Given the description of an element on the screen output the (x, y) to click on. 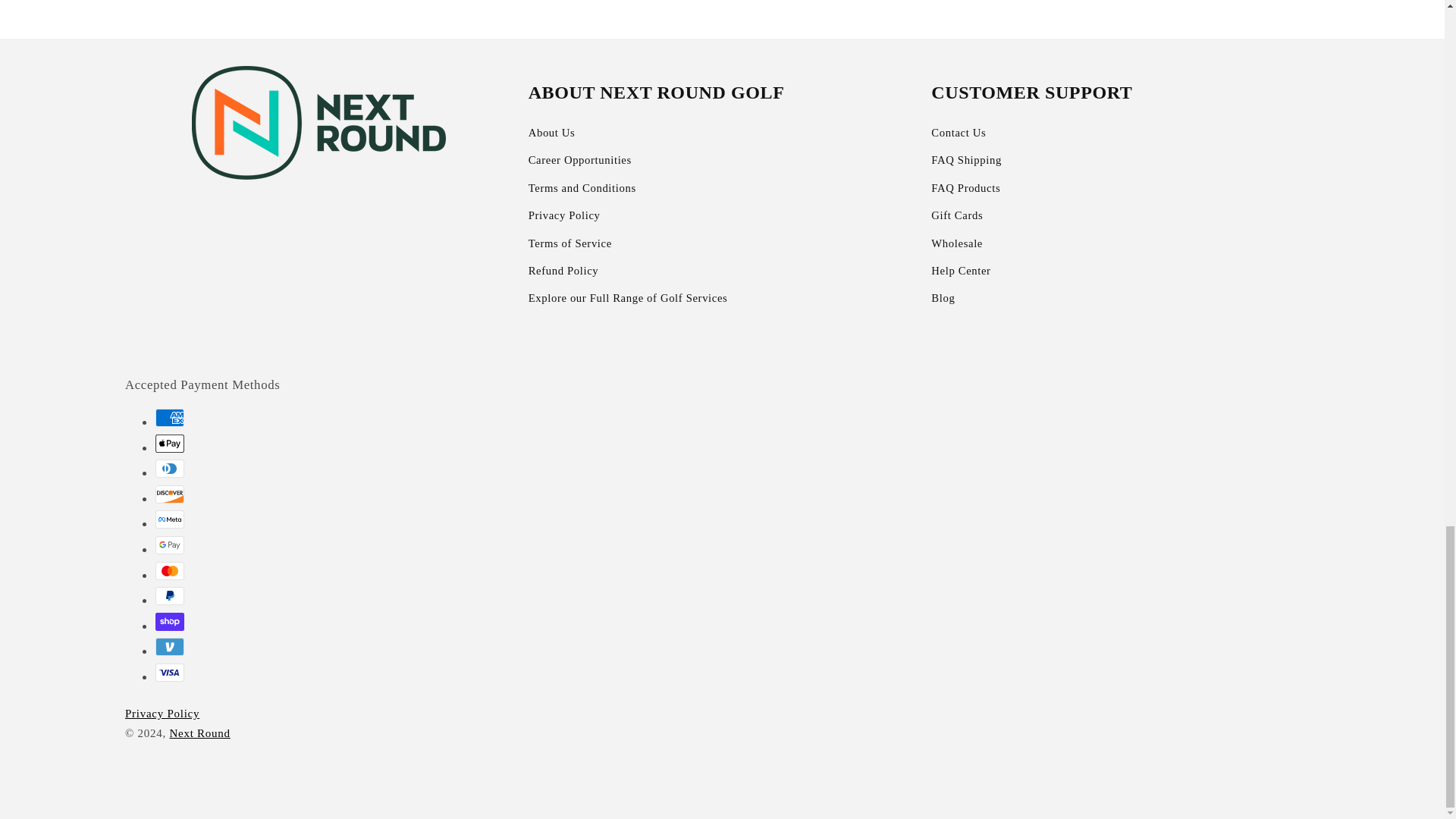
Diners Club (169, 468)
Google Pay (169, 545)
American Express (169, 417)
Apple Pay (169, 443)
Venmo (169, 647)
Mastercard (169, 570)
Discover (169, 494)
PayPal (169, 596)
Meta Pay (169, 519)
Shop Pay (169, 621)
